Given the description of an element on the screen output the (x, y) to click on. 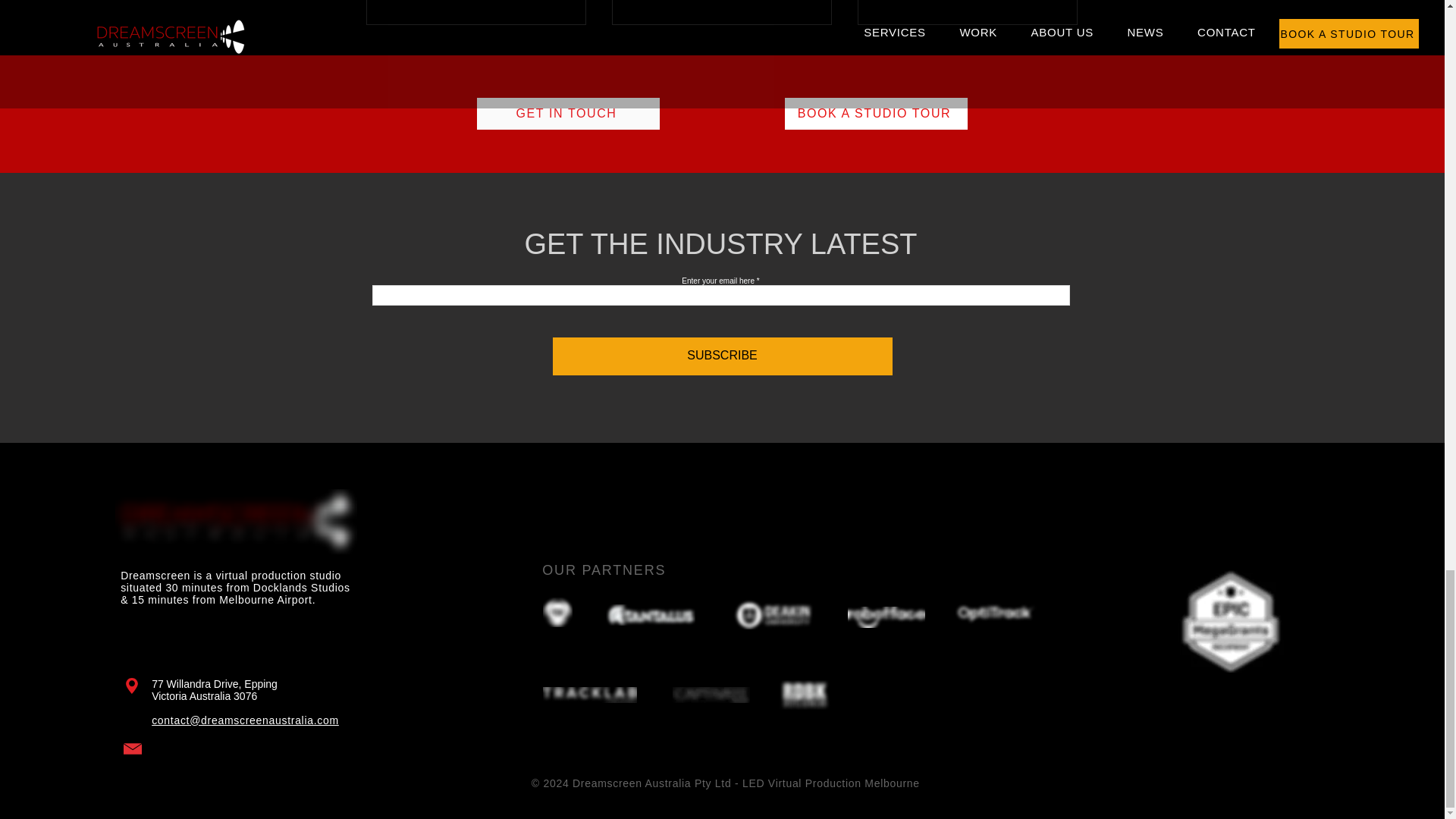
GET IN TOUCH (567, 113)
BOOK A STUDIO TOUR (875, 113)
DSA Logo RedWhite.png (235, 521)
SUBSCRIBE (721, 356)
